Given the description of an element on the screen output the (x, y) to click on. 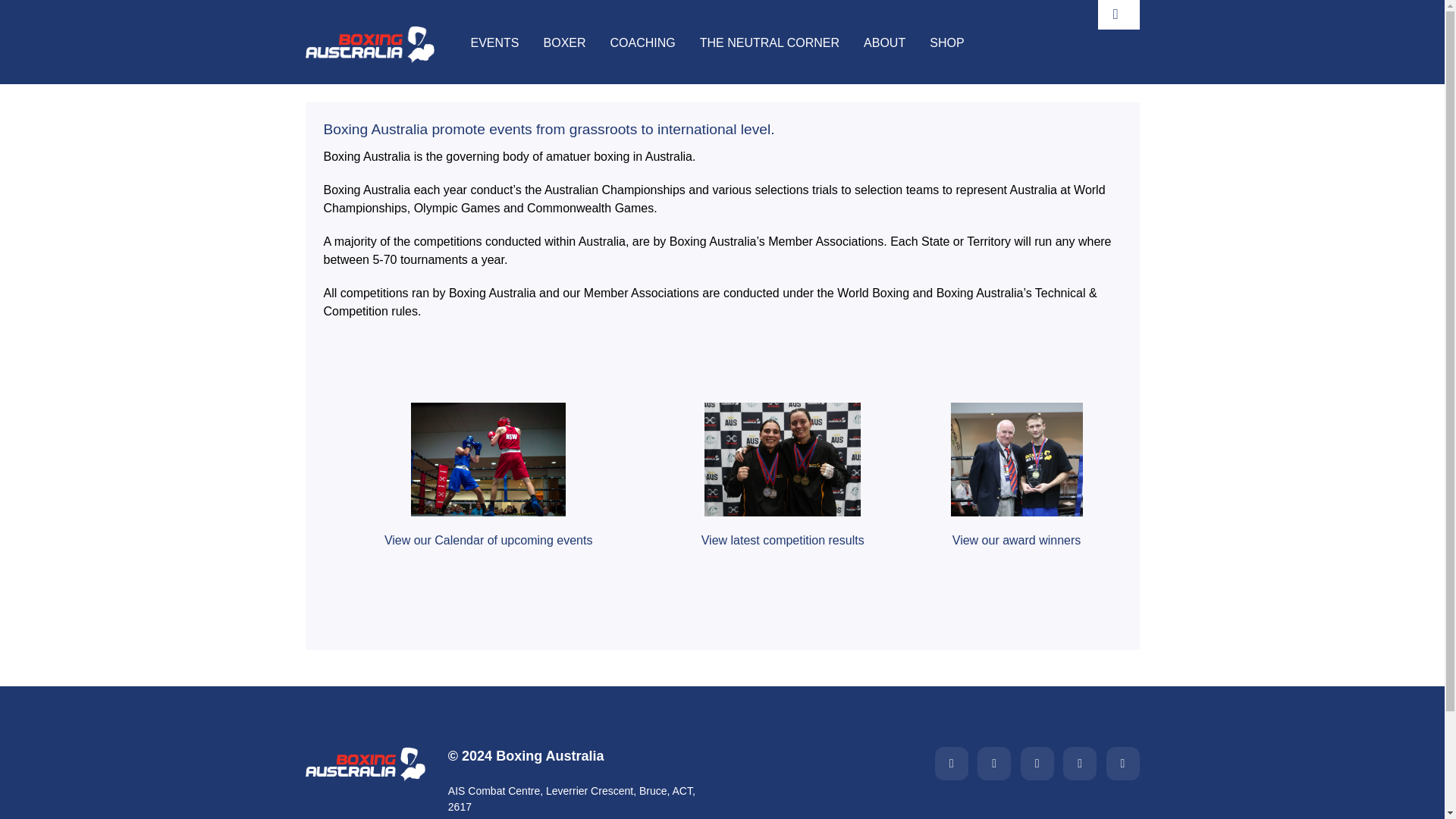
EVENTS (494, 43)
THE NEUTRAL CORNER (770, 43)
COACHING (642, 43)
ABOUT (884, 43)
BOXER (564, 43)
